Given the description of an element on the screen output the (x, y) to click on. 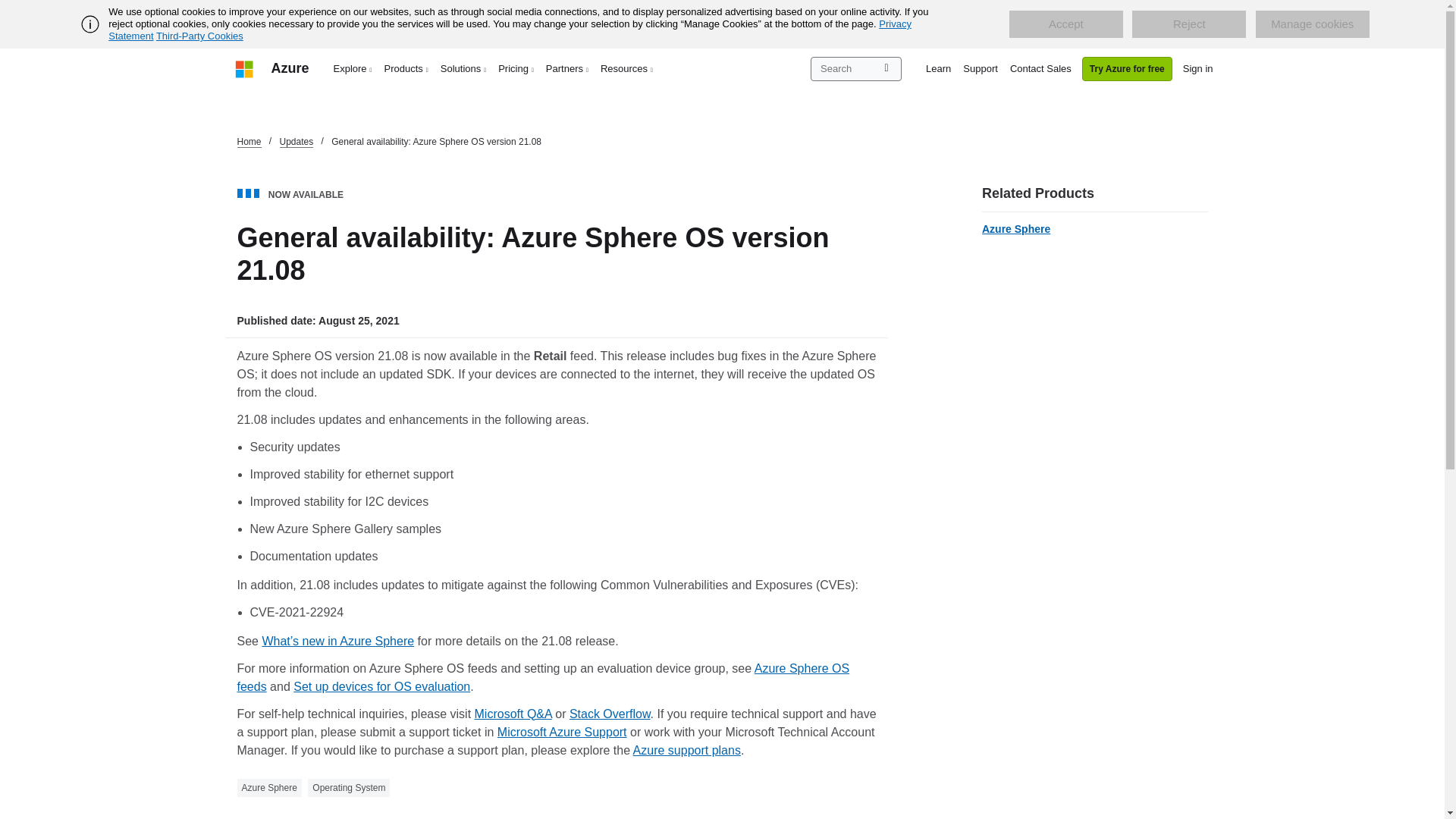
Explore (352, 68)
Skip to main content (7, 7)
Manage cookies (1312, 23)
Accept (1065, 23)
Azure (289, 68)
Privacy Statement (509, 29)
Third-Party Cookies (199, 35)
Products (405, 68)
Reject (1189, 23)
